Given the description of an element on the screen output the (x, y) to click on. 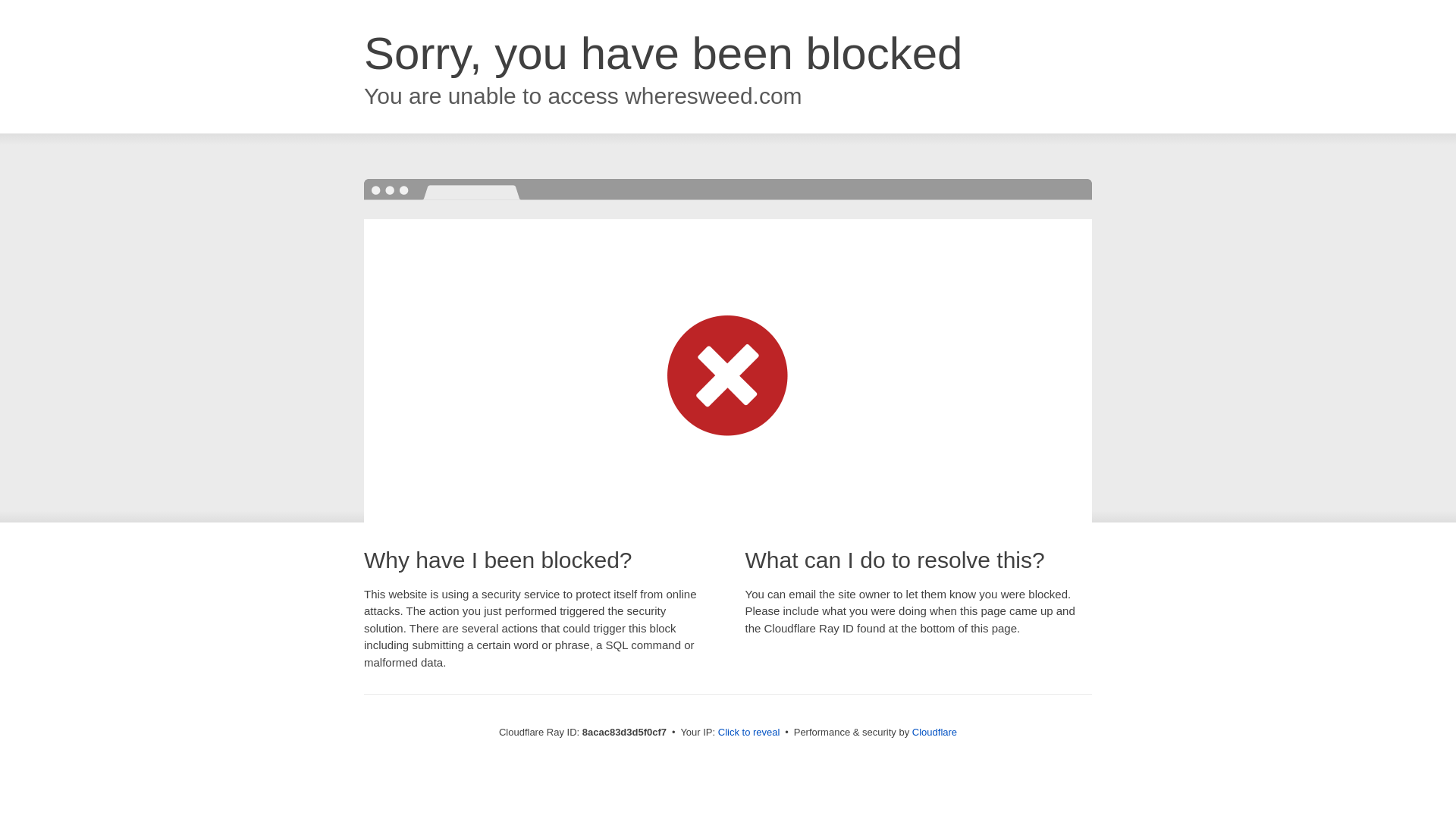
Click to reveal (748, 732)
Cloudflare (934, 731)
